Given the description of an element on the screen output the (x, y) to click on. 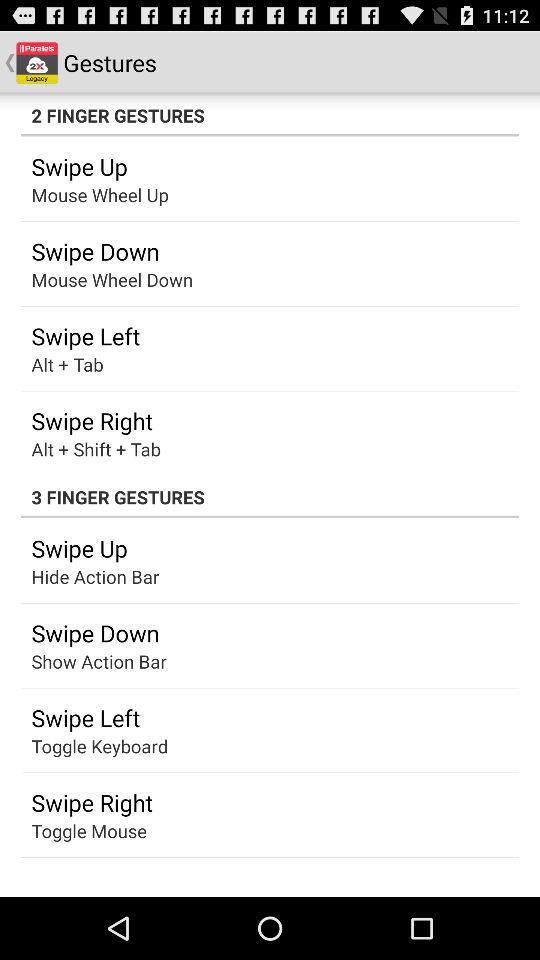
launch hide mouse (80, 661)
